Given the description of an element on the screen output the (x, y) to click on. 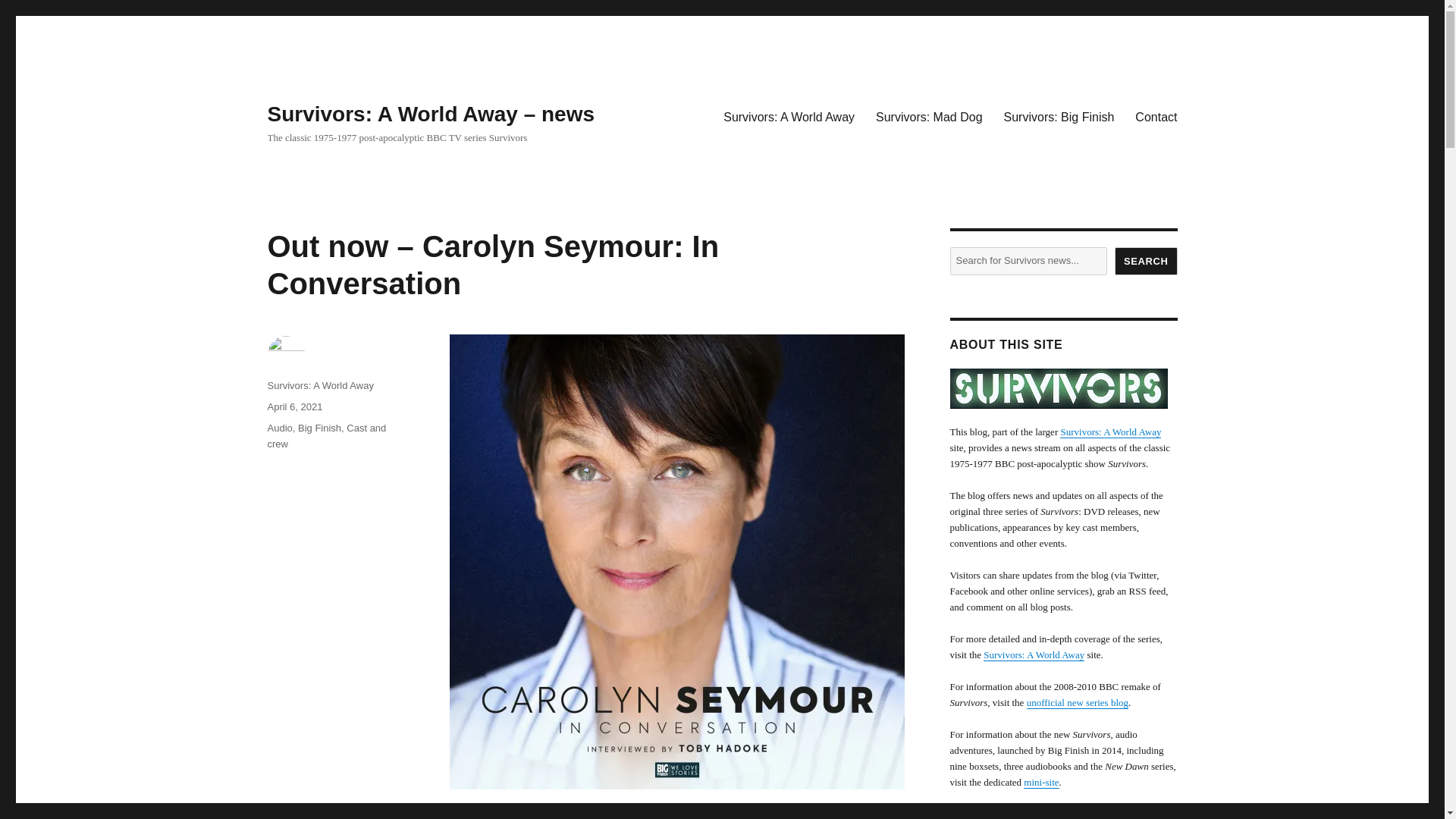
Survivors: Big Finish (1058, 116)
April 6, 2021 (293, 406)
Survivors: A World Away (319, 385)
Contact (1156, 116)
Survivors: Mad Dog (928, 116)
Survivors: A World Away (788, 116)
Audio (279, 428)
Cast and crew (325, 435)
Big Finish (319, 428)
